Given the description of an element on the screen output the (x, y) to click on. 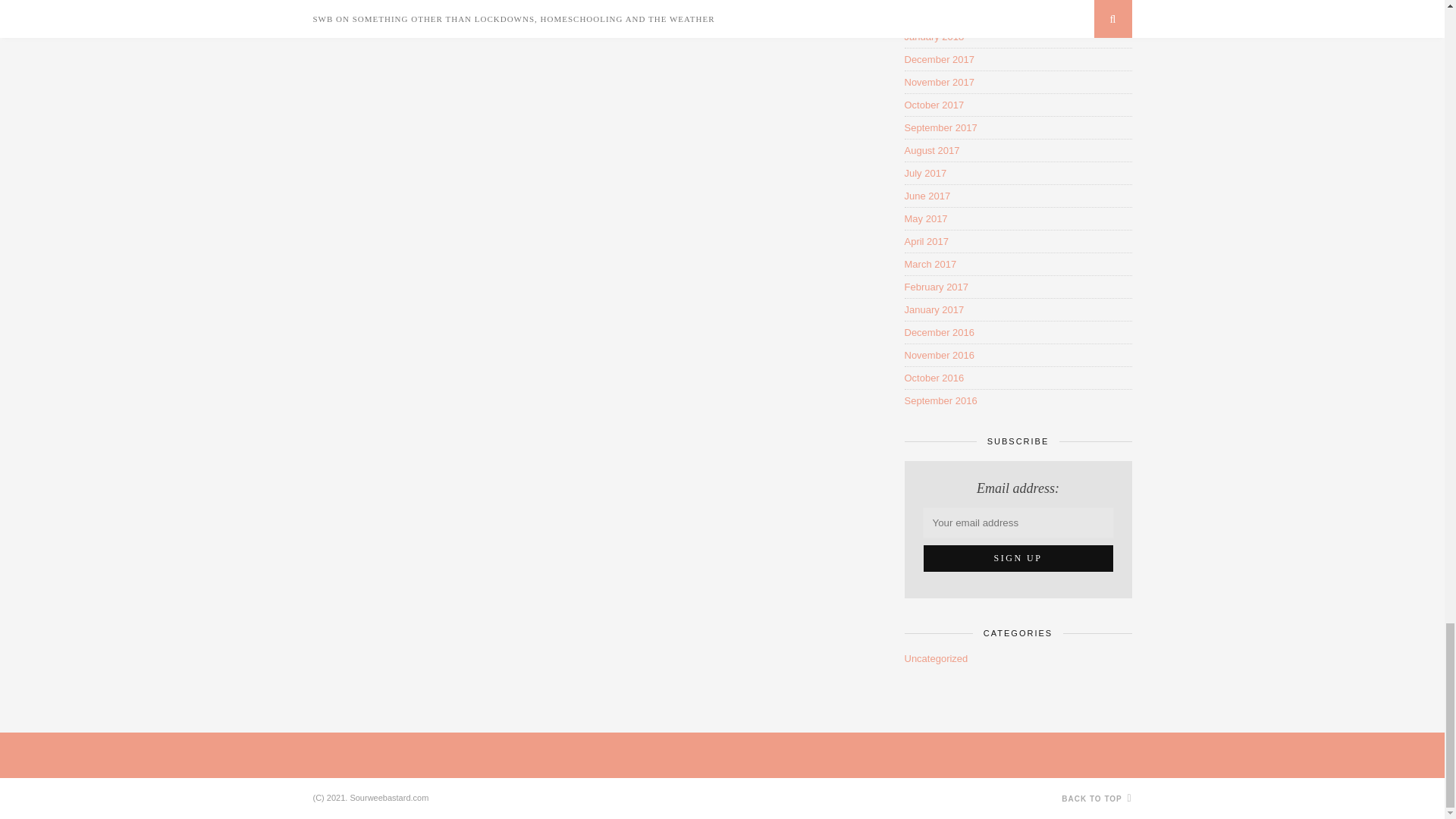
Sign up (1017, 558)
